Given the description of an element on the screen output the (x, y) to click on. 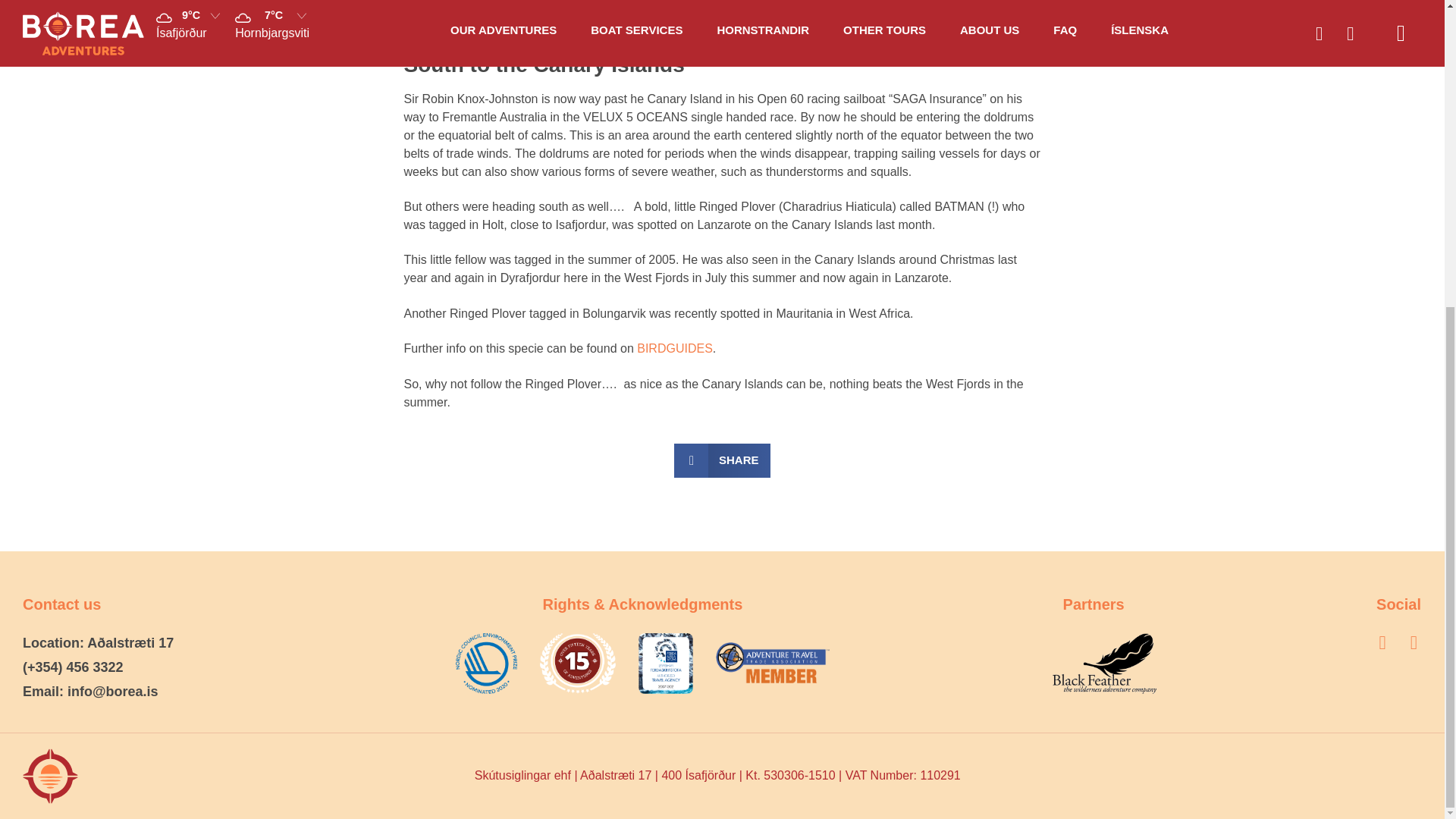
BIRDGUIDES (675, 348)
Ringed Plover (675, 348)
